Given the description of an element on the screen output the (x, y) to click on. 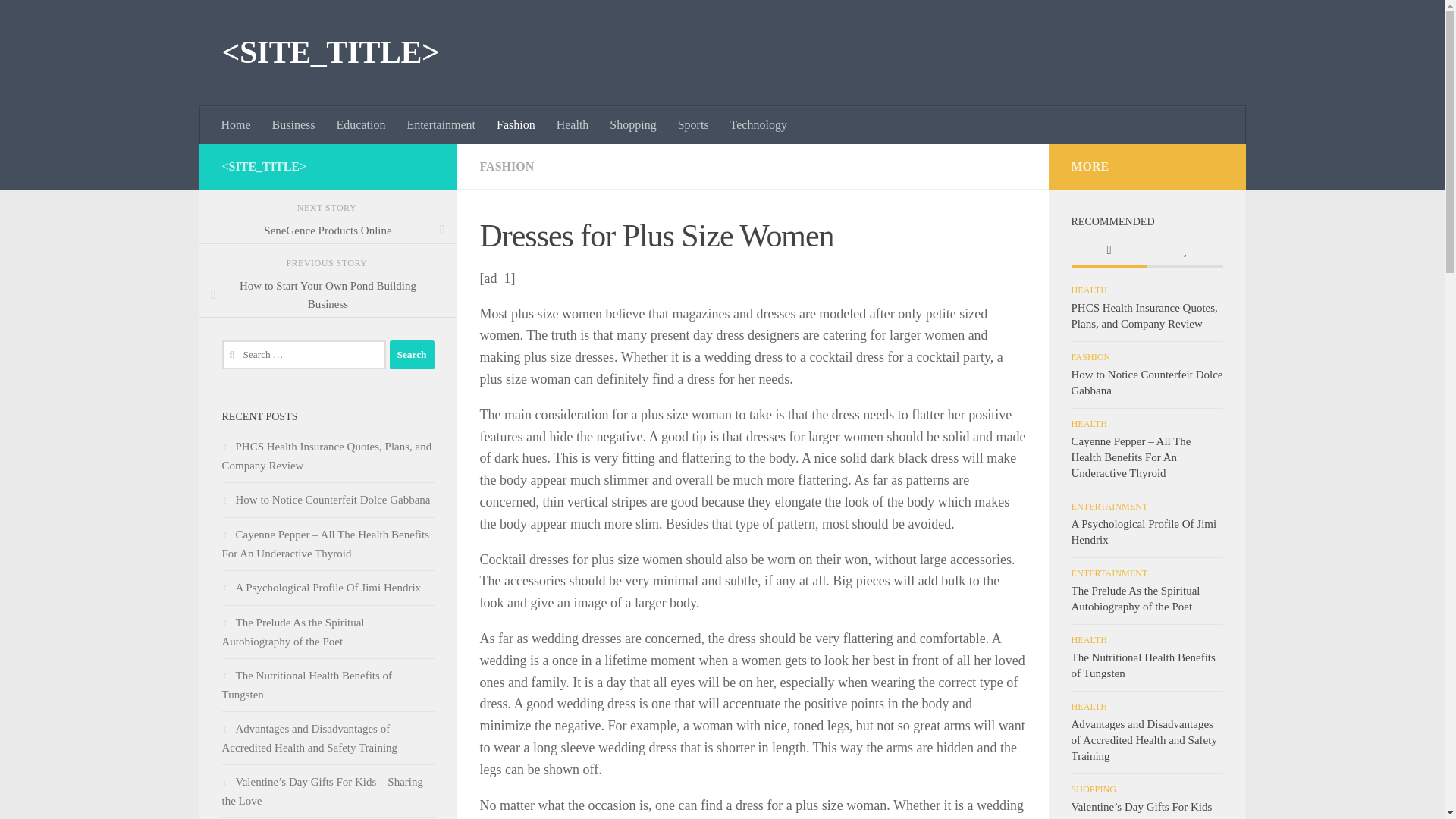
Search (411, 354)
Permalink to How to Notice Counterfeit Dolce Gabbana (1146, 382)
Entertainment (441, 125)
Education (361, 125)
Health (572, 125)
PHCS Health Insurance Quotes, Plans, and Company Review (325, 455)
Technology (758, 125)
Sports (692, 125)
Recent Posts (1108, 251)
FASHION (506, 165)
SeneGence Products Online (327, 230)
Skip to content (59, 20)
Search (411, 354)
How to Start Your Own Pond Building Business (327, 294)
